Given the description of an element on the screen output the (x, y) to click on. 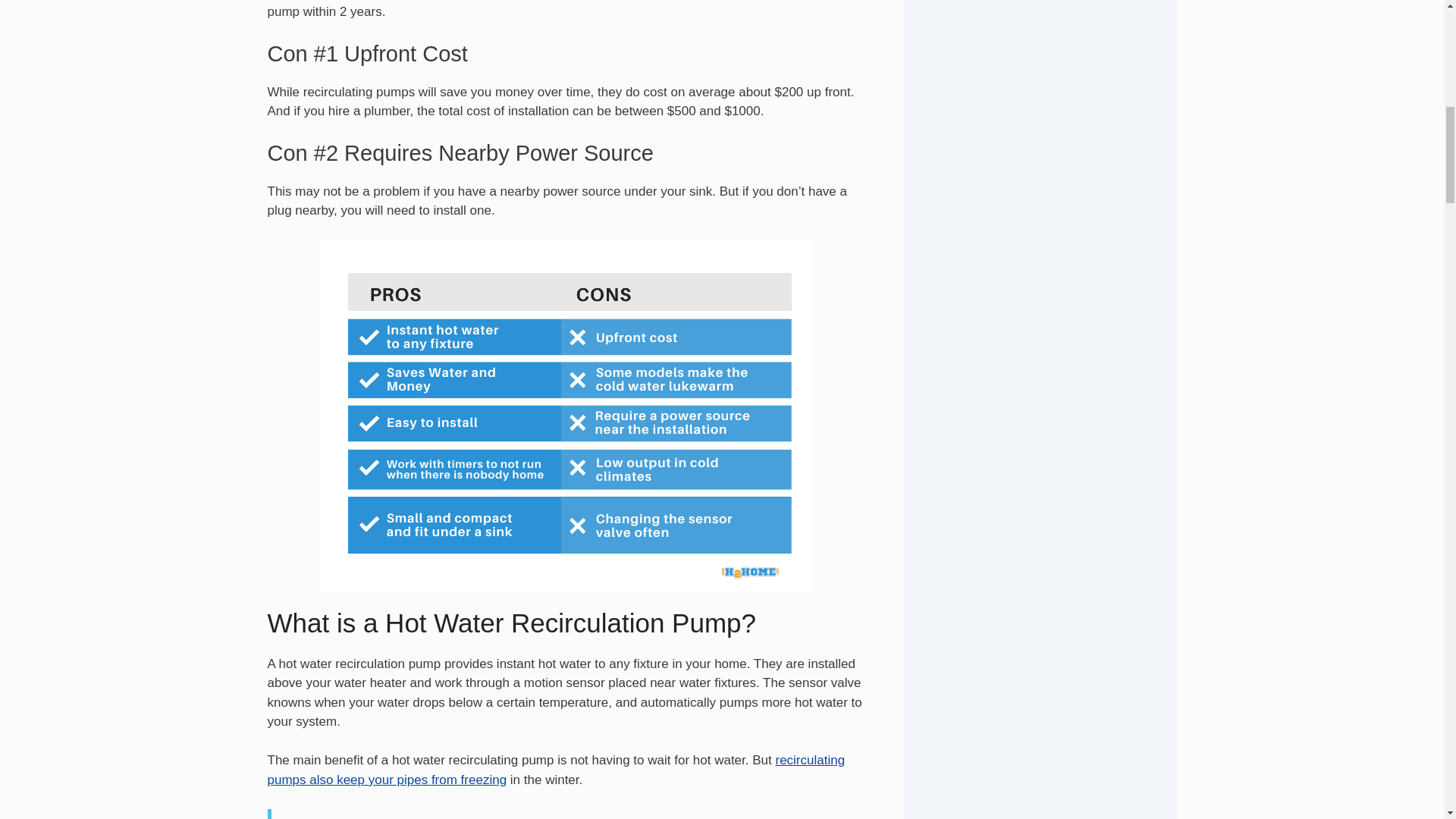
recirculating pumps also keep your pipes from freezing (555, 769)
